Given the description of an element on the screen output the (x, y) to click on. 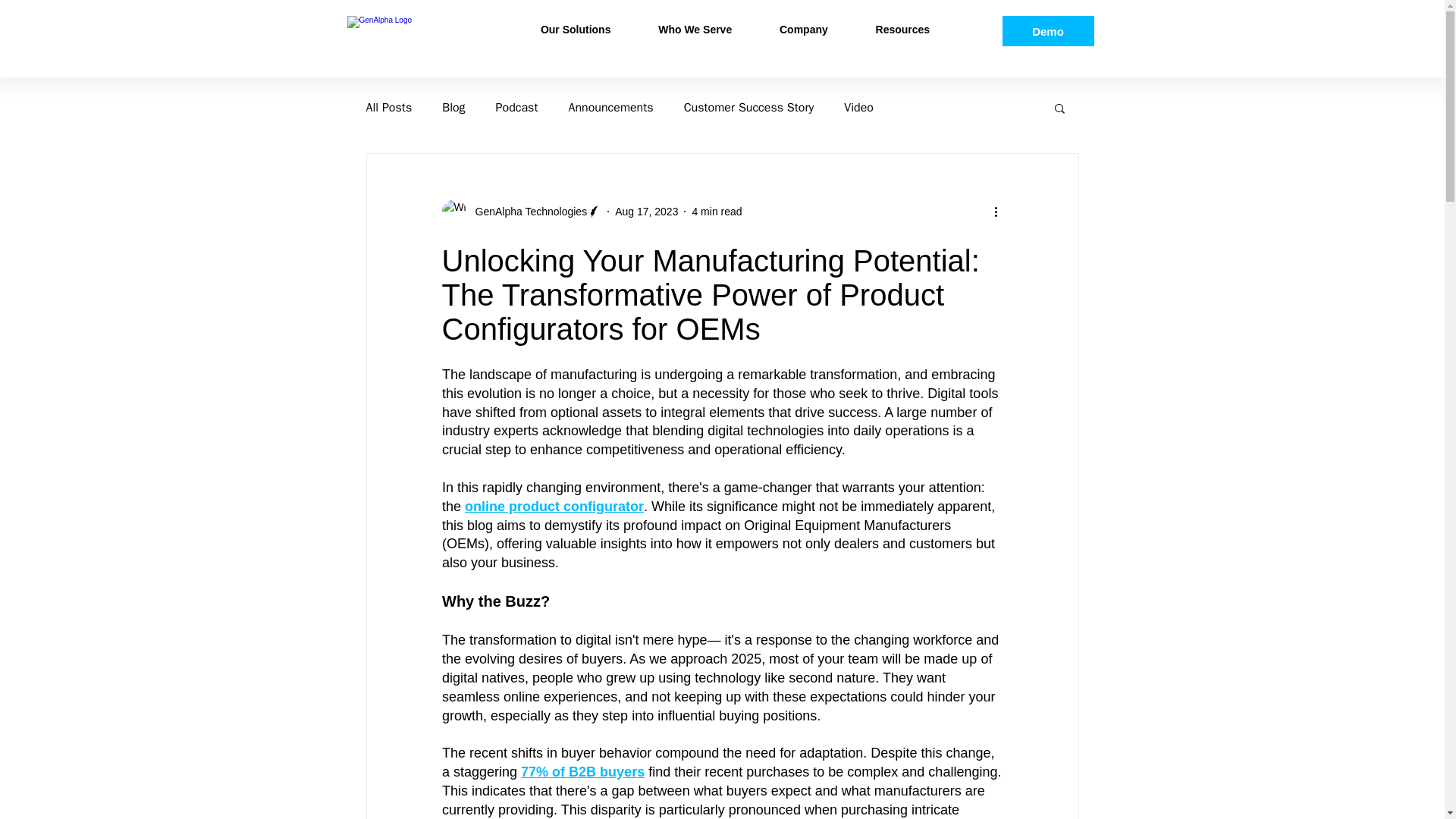
online product configurator (553, 506)
GenAlpha Technologies (521, 211)
Customer Success Story (748, 107)
Video (858, 107)
Podcast (517, 107)
Demo (1048, 30)
Announcements (611, 107)
GenAlpha Technologies (525, 211)
All Posts (388, 107)
4 min read (716, 210)
